Given the description of an element on the screen output the (x, y) to click on. 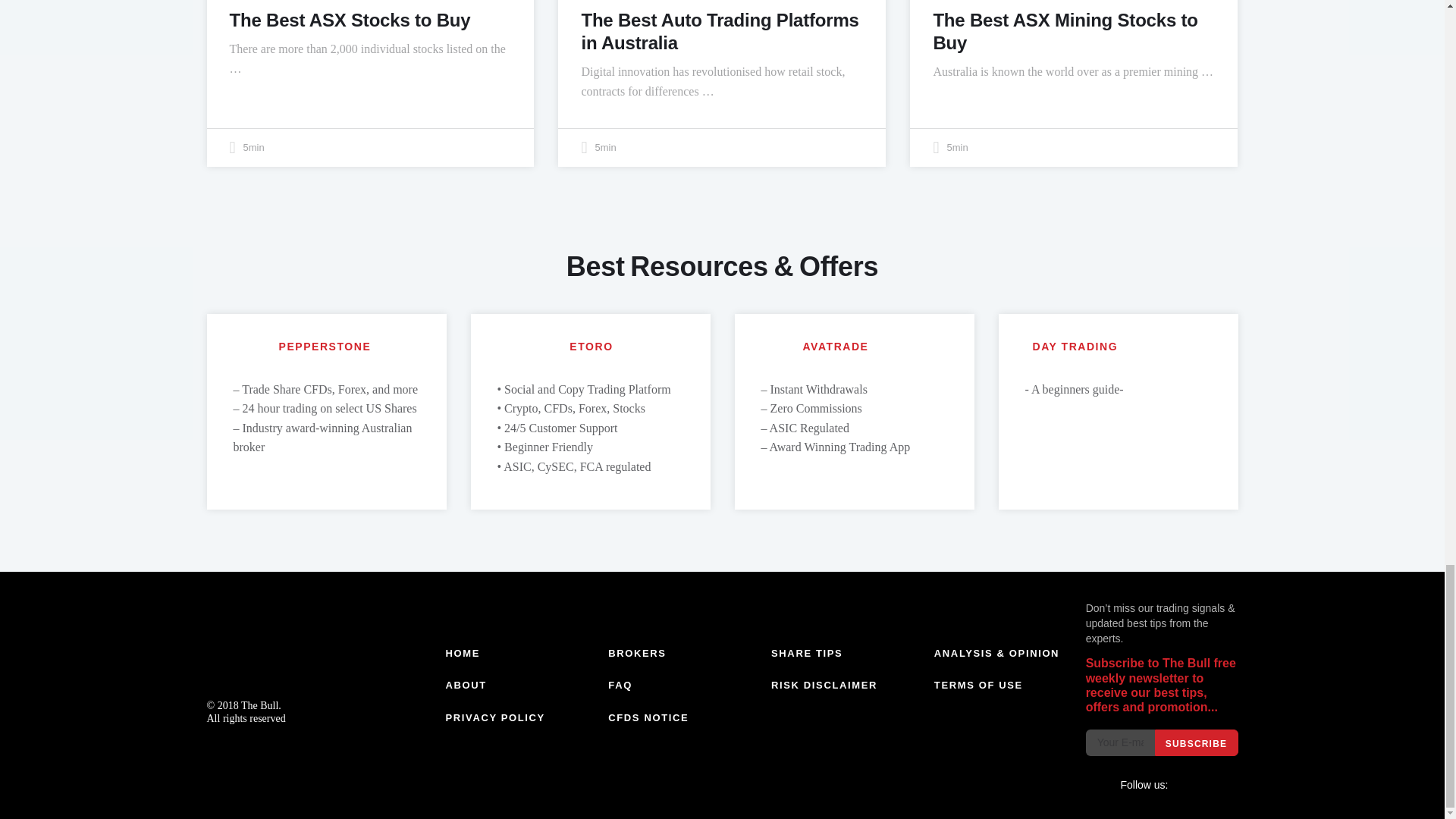
The Best Auto Trading Platforms in Australia (719, 31)
The Best ASX Stocks to Buy (349, 19)
Subscribe (1195, 742)
The Best ASX Mining Stocks to Buy (1064, 31)
